Given the description of an element on the screen output the (x, y) to click on. 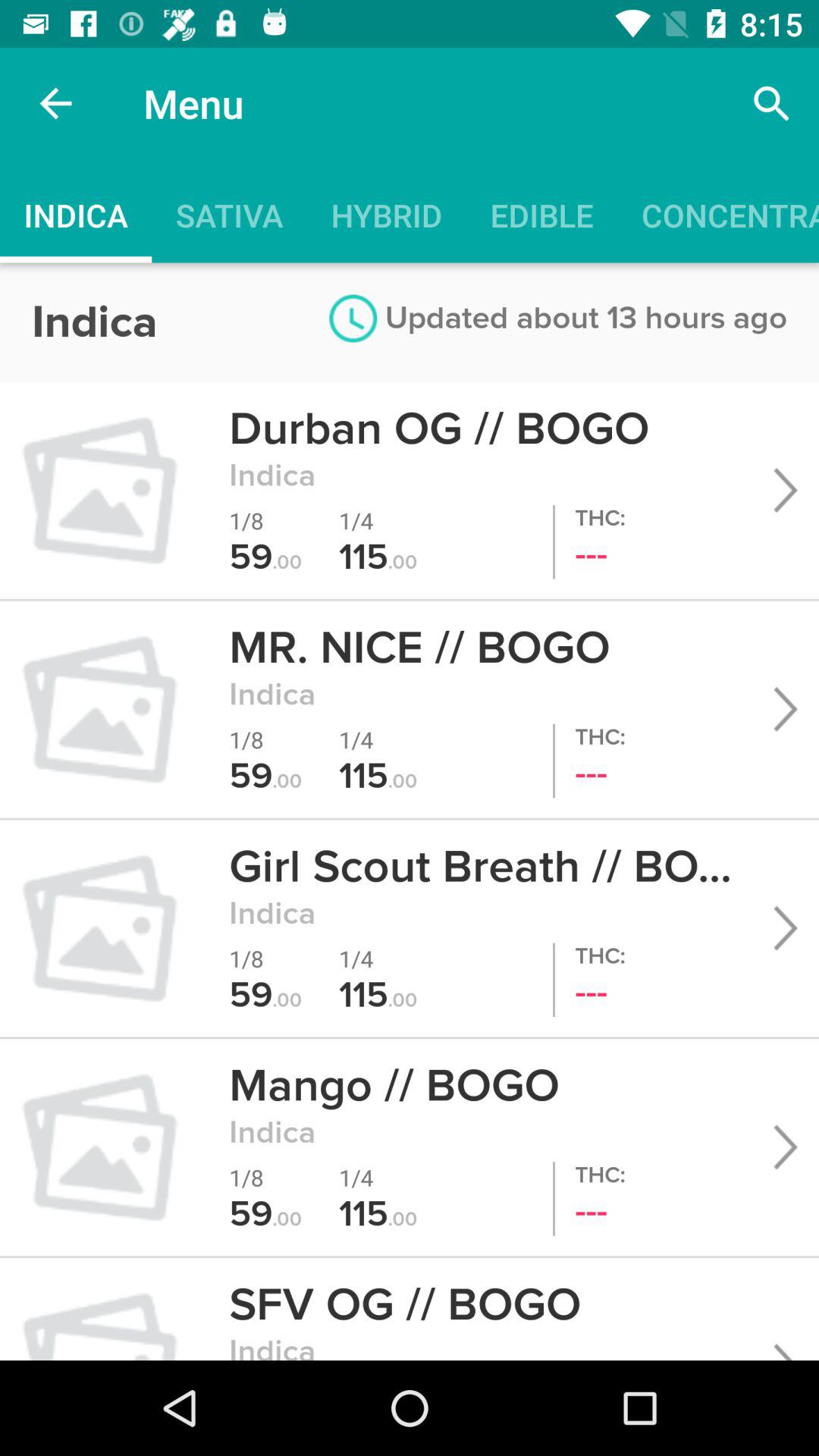
turn off the icon to the right of menu (771, 103)
